Given the description of an element on the screen output the (x, y) to click on. 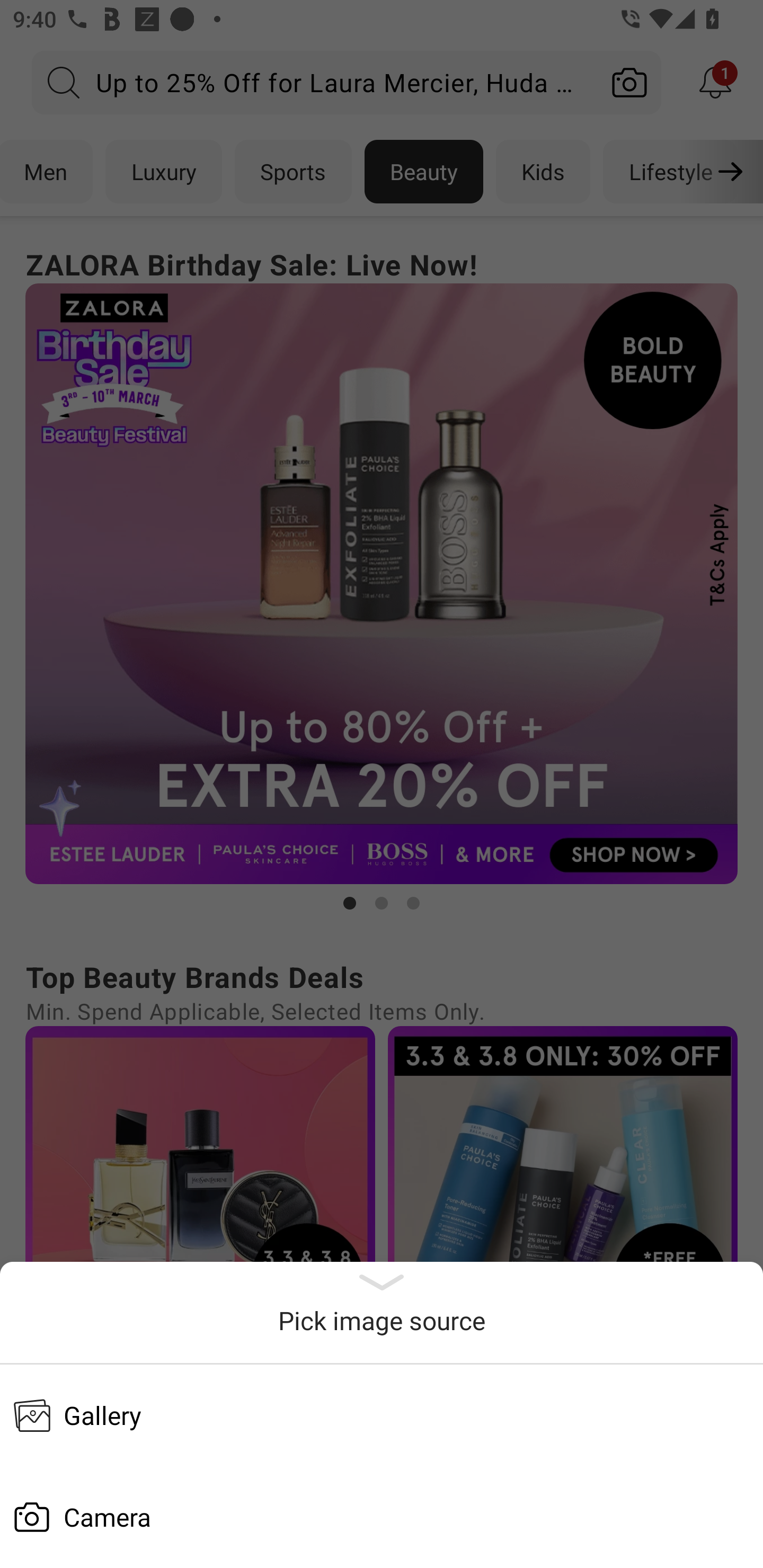
Gallery (381, 1415)
Camera (381, 1517)
